Given the description of an element on the screen output the (x, y) to click on. 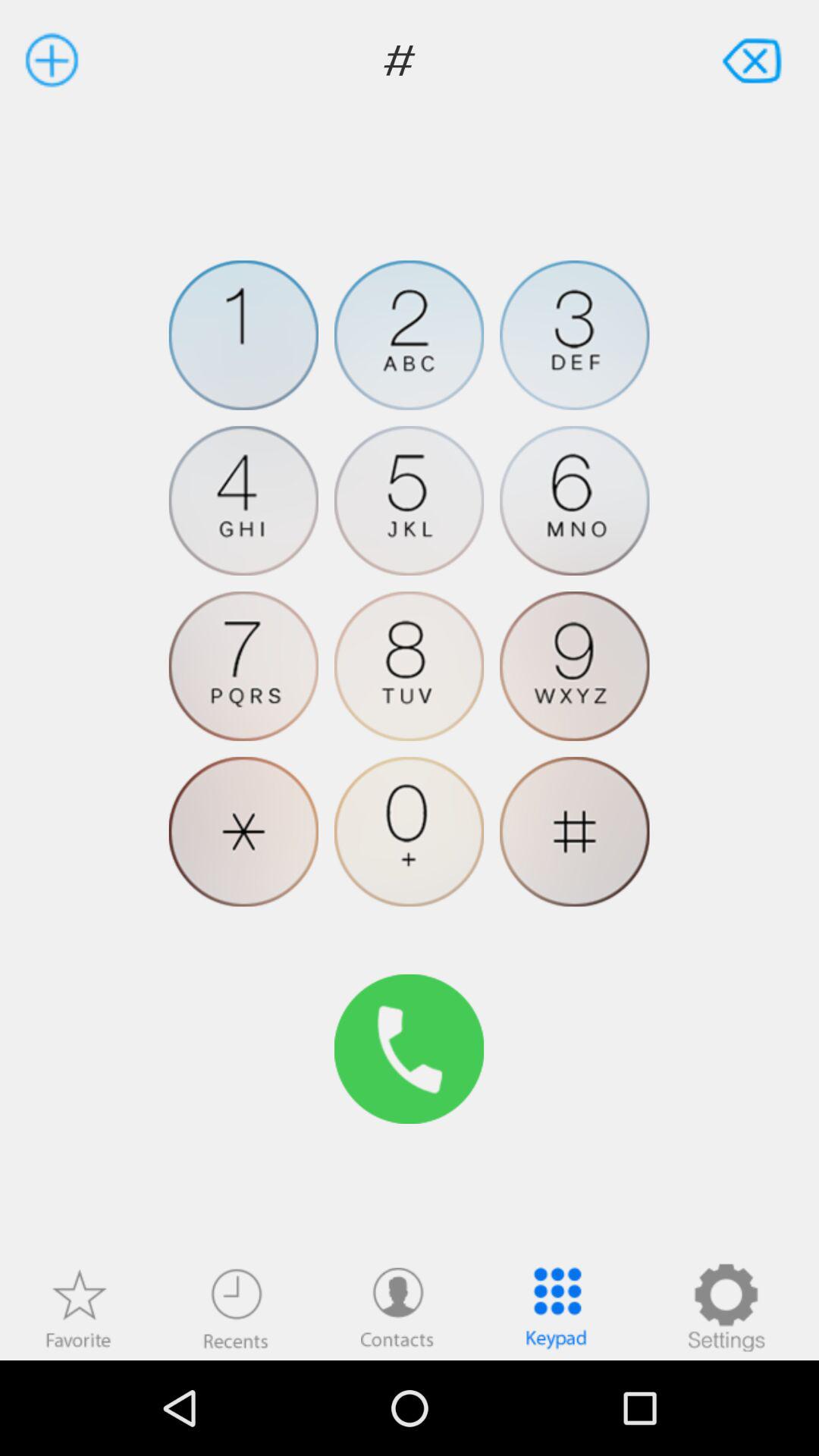
choose item below the # app (574, 335)
